Given the description of an element on the screen output the (x, y) to click on. 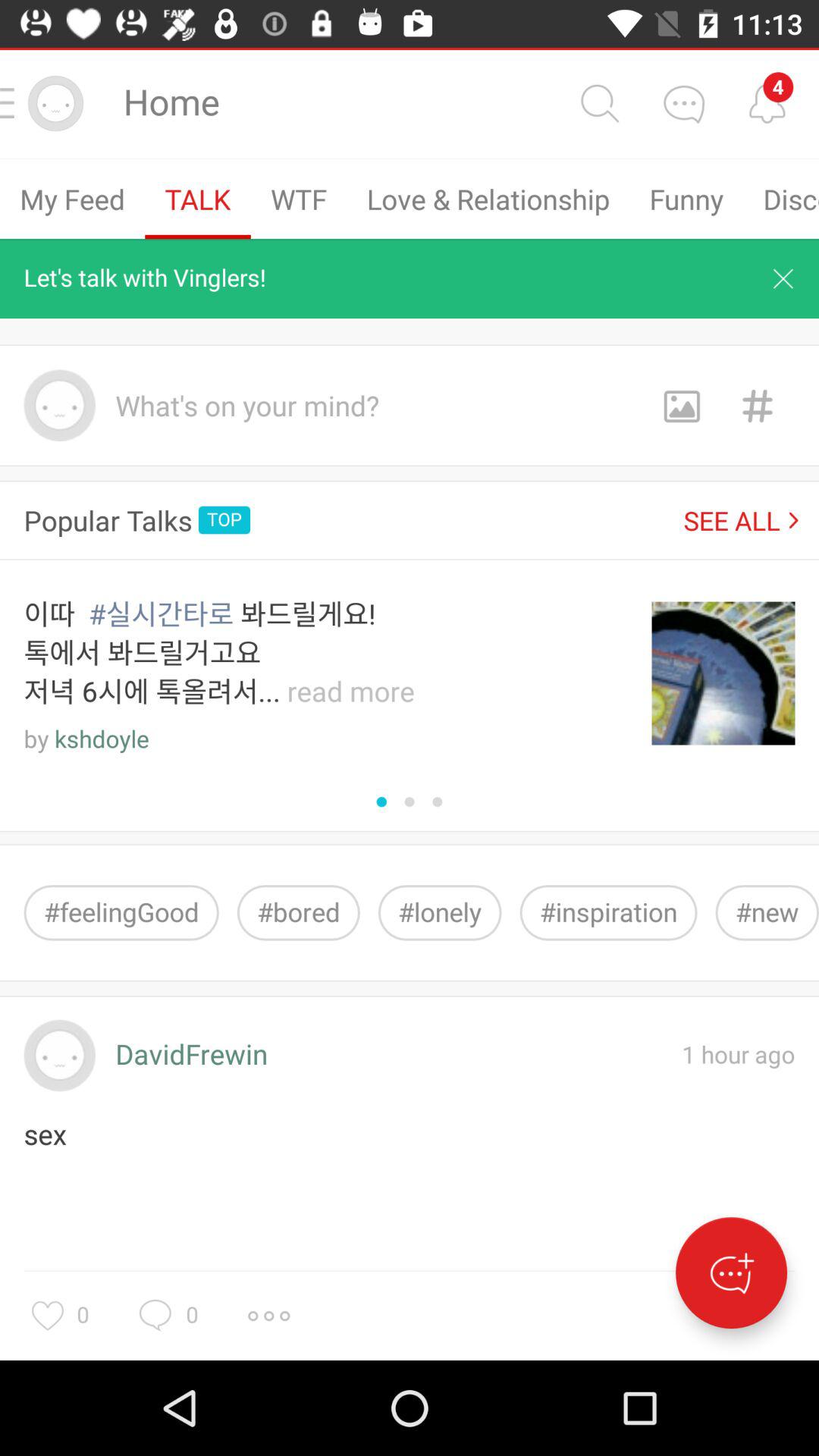
view private messages (683, 103)
